Given the description of an element on the screen output the (x, y) to click on. 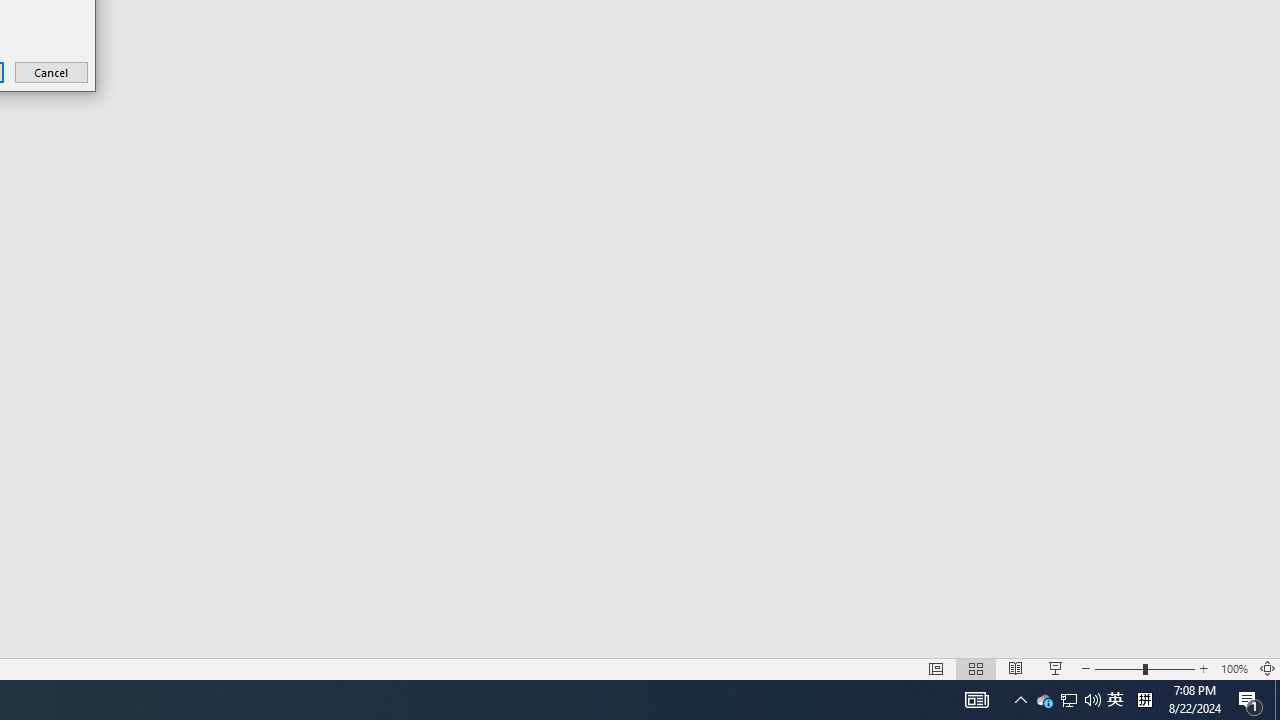
Action Center, 1 new notification (1250, 699)
Zoom 100% (1234, 668)
